Given the description of an element on the screen output the (x, y) to click on. 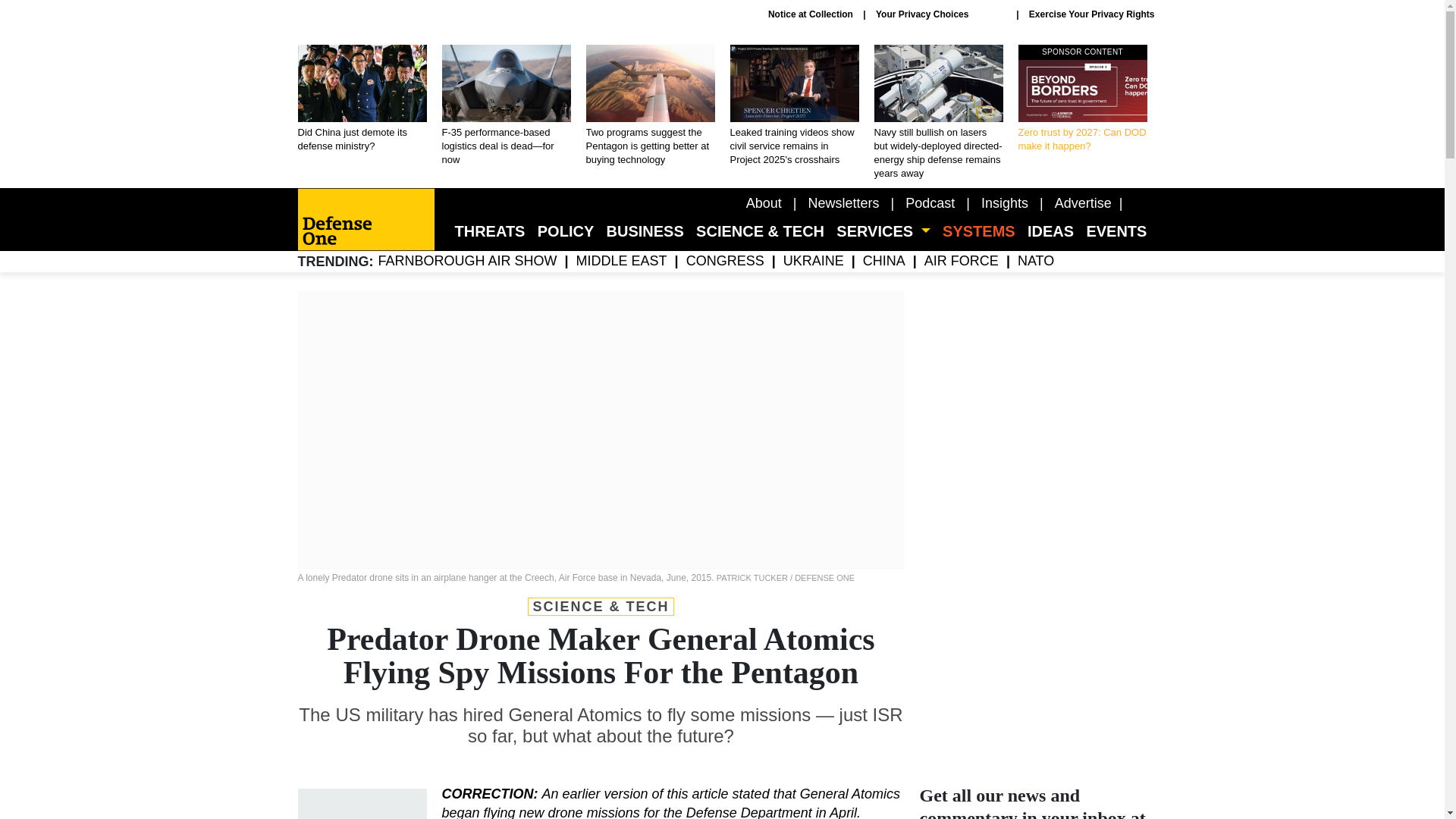
Podcast (930, 202)
About (763, 202)
Your Privacy Choices (941, 14)
Insights (1004, 202)
Newsletters (1082, 99)
Advertise (843, 202)
